Given the description of an element on the screen output the (x, y) to click on. 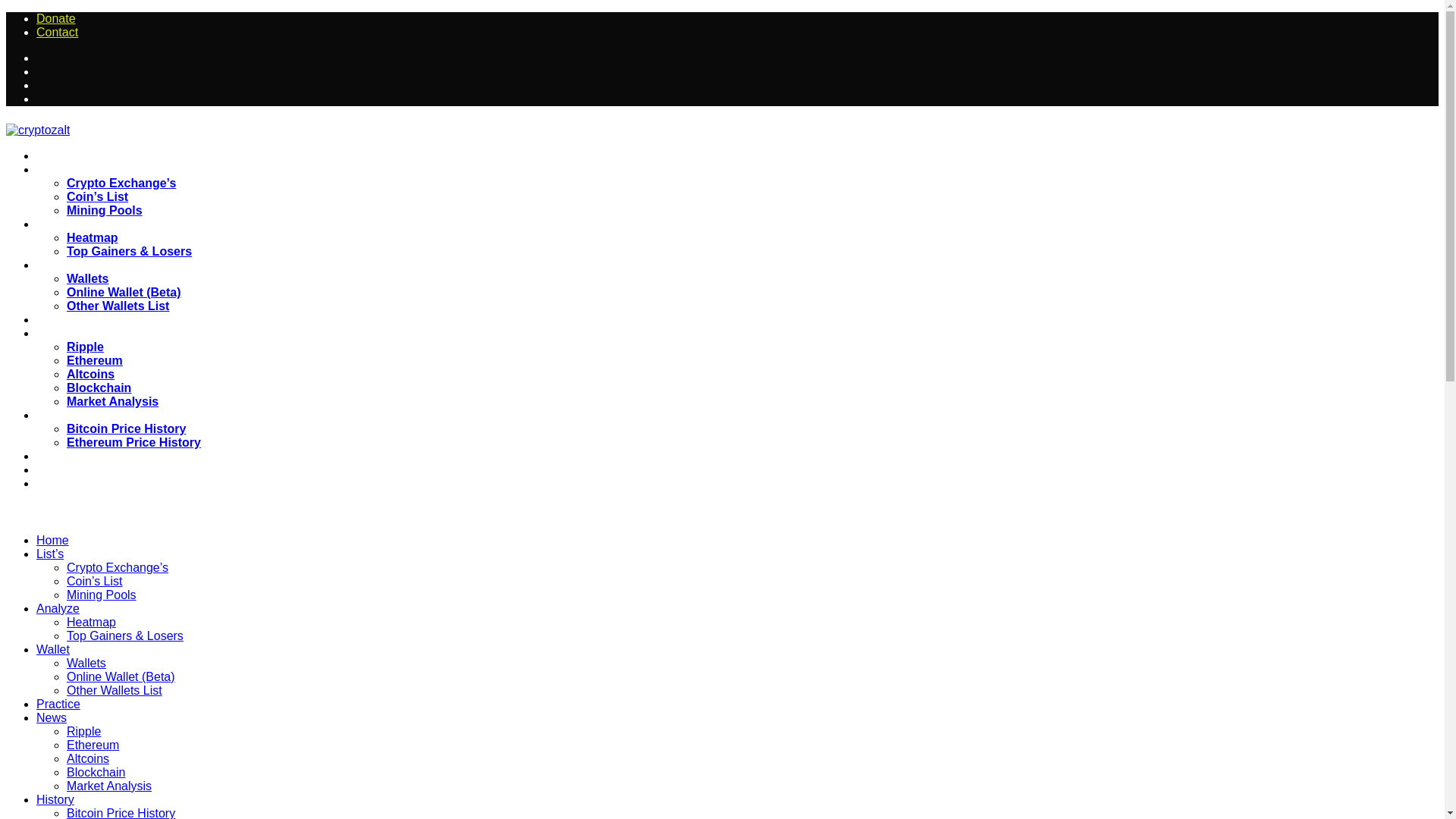
Donate (55, 18)
Ethereum (94, 359)
Market Analysis (112, 400)
Home (58, 156)
Ripple (84, 346)
Trade Crypto (76, 470)
Menu Close (32, 509)
Ethereum Price History (133, 441)
Contact (57, 31)
News (57, 333)
Practice (63, 319)
Blockchain (98, 387)
Wallets (86, 278)
Other Wallets List (117, 305)
